Given the description of an element on the screen output the (x, y) to click on. 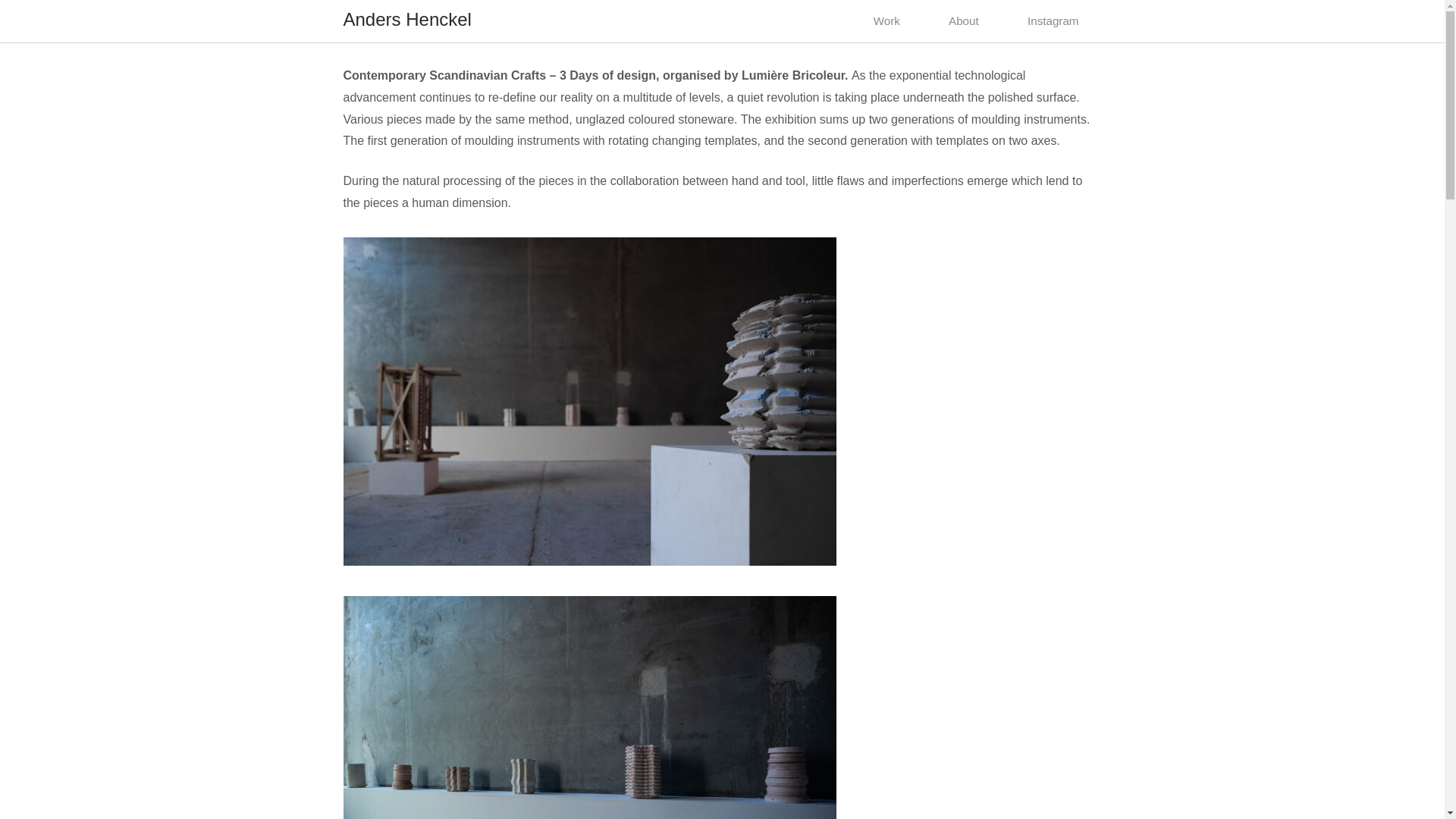
Work (886, 21)
About (963, 21)
Instagram (1053, 21)
Anders Henckel (406, 19)
